Given the description of an element on the screen output the (x, y) to click on. 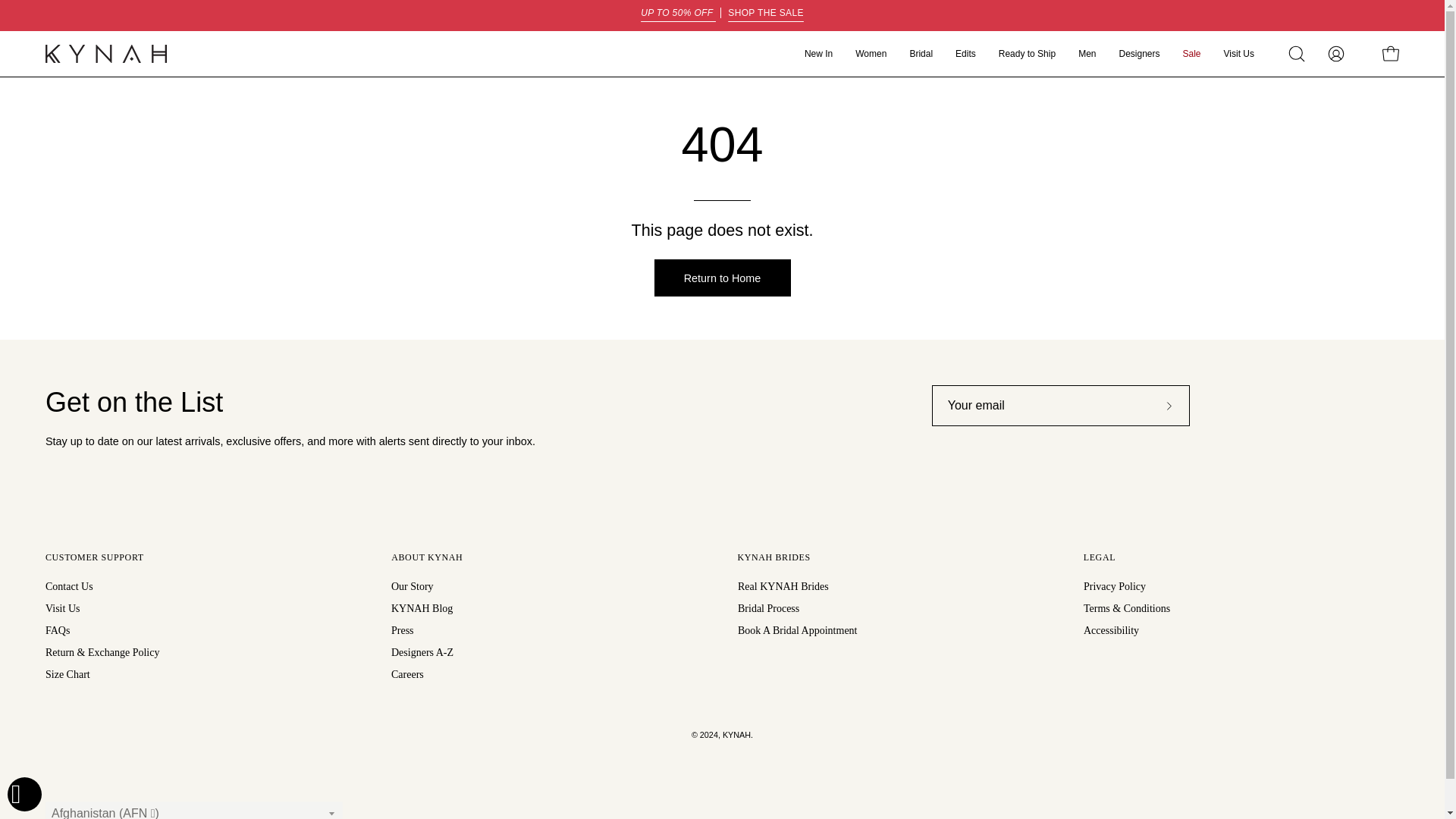
Sale (721, 15)
Open search bar (1297, 53)
